Given the description of an element on the screen output the (x, y) to click on. 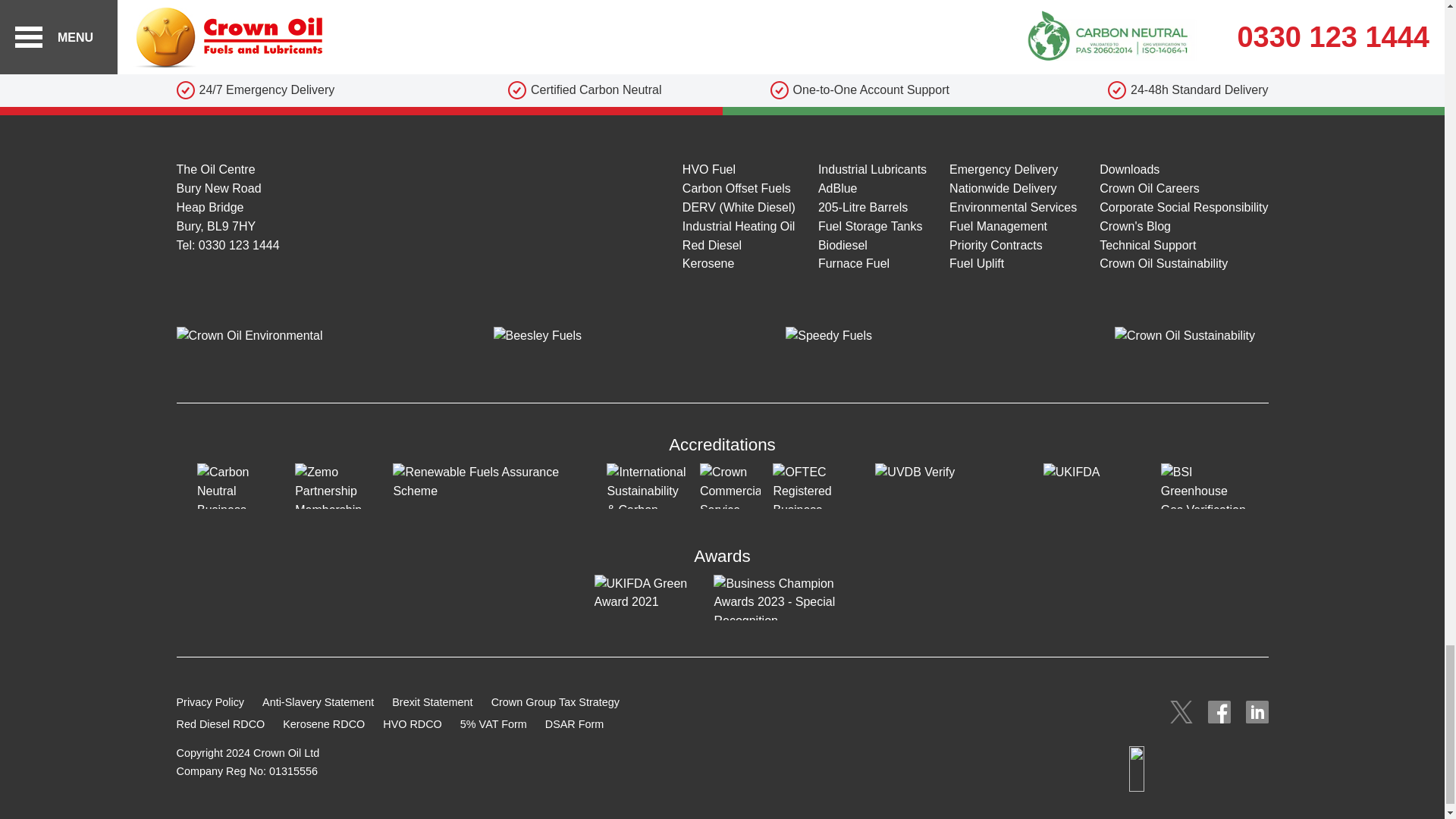
on (160, 94)
